Given the description of an element on the screen output the (x, y) to click on. 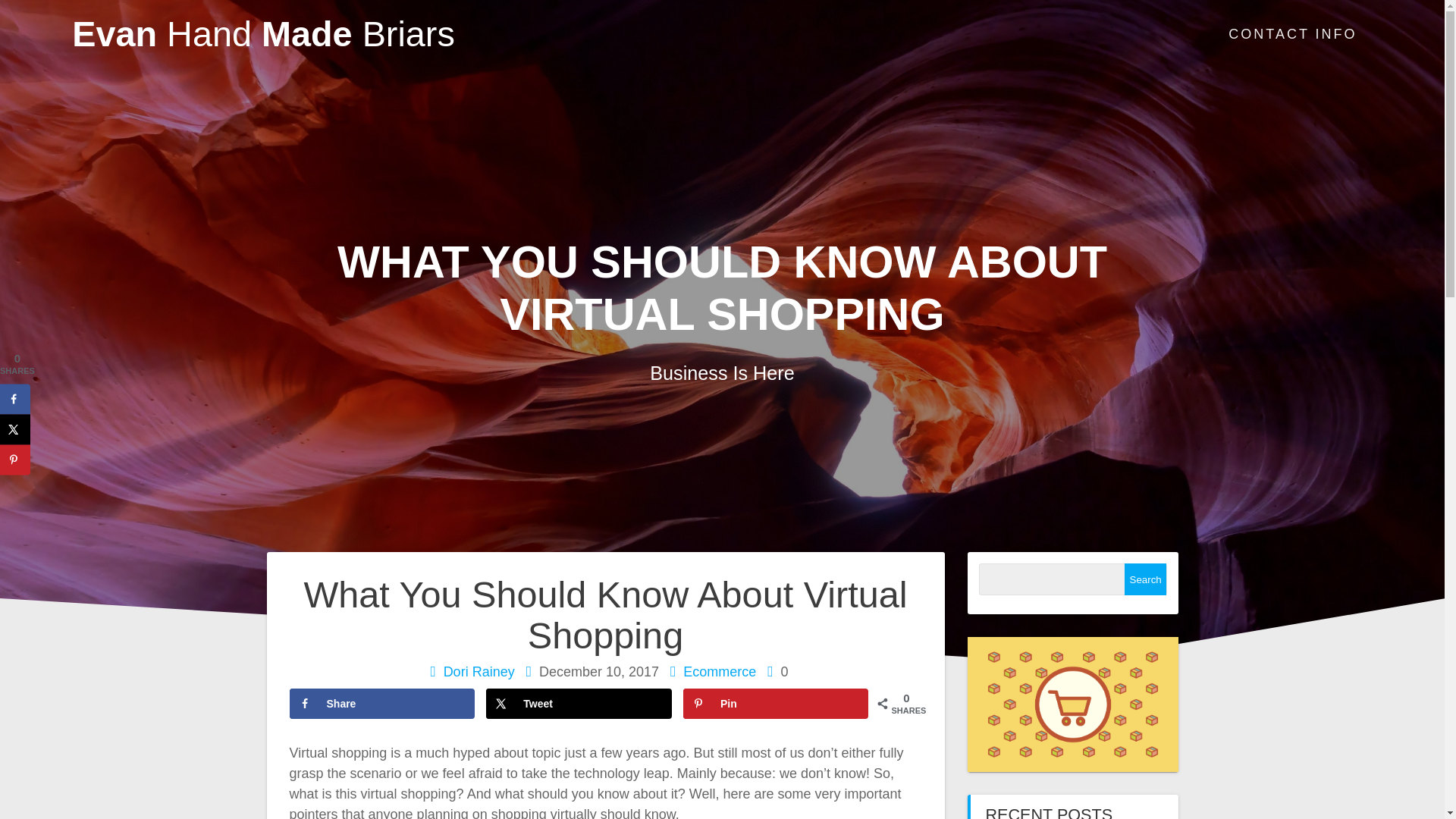
Dori Rainey (479, 671)
Share (381, 703)
Share on X (578, 703)
Ecommerce (718, 671)
CONTACT INFO (1292, 34)
Evan Hand Made Briars (262, 34)
Share on Facebook (381, 703)
Posts by Dori Rainey (479, 671)
Pin (774, 703)
Share on Facebook (15, 399)
Save to Pinterest (15, 459)
Search (1145, 579)
Share on X (15, 429)
Search (1145, 579)
Save to Pinterest (774, 703)
